Given the description of an element on the screen output the (x, y) to click on. 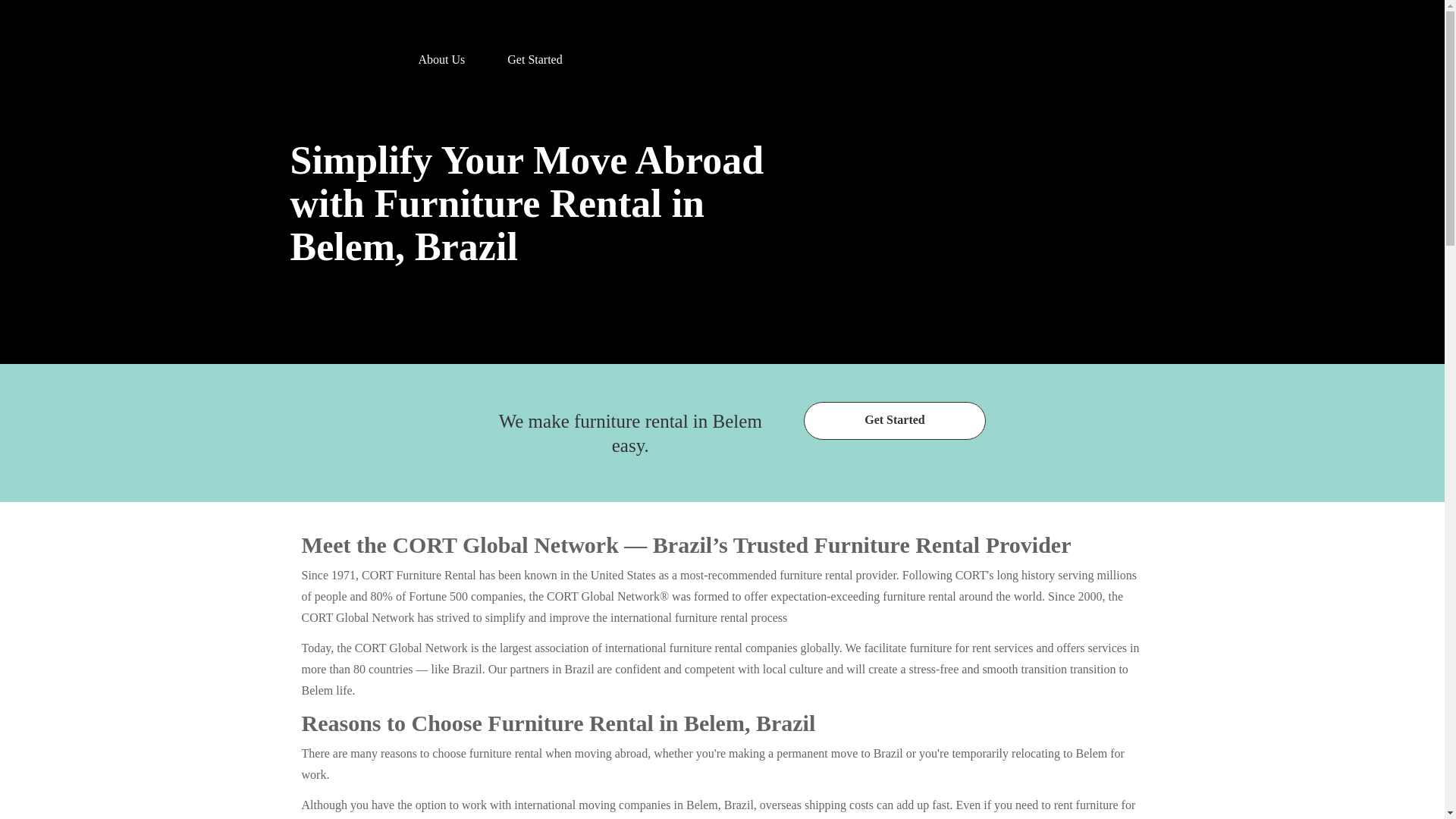
Get Started (894, 420)
Get Started (534, 53)
